Given the description of an element on the screen output the (x, y) to click on. 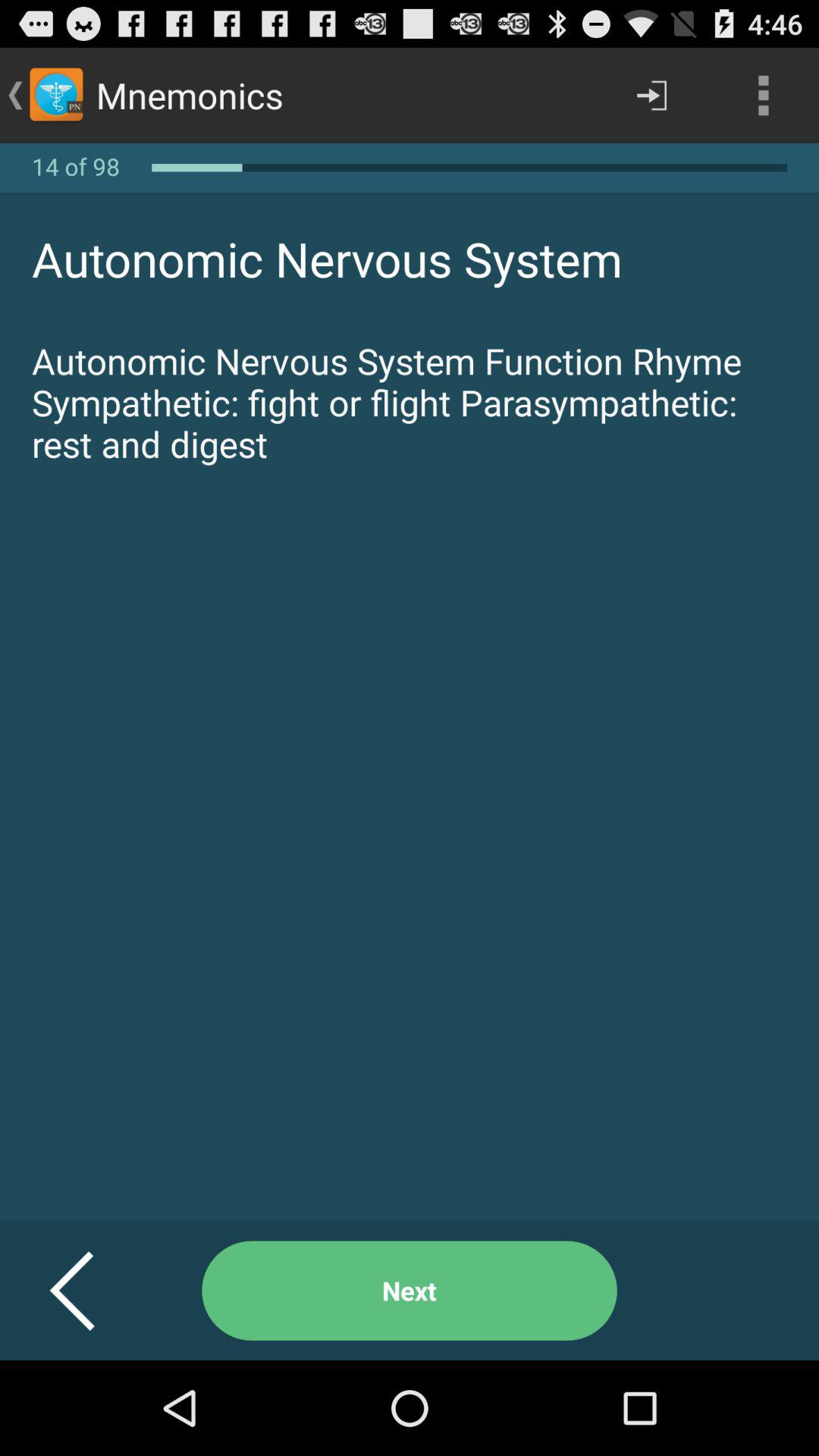
tap icon at the bottom left corner (91, 1290)
